Given the description of an element on the screen output the (x, y) to click on. 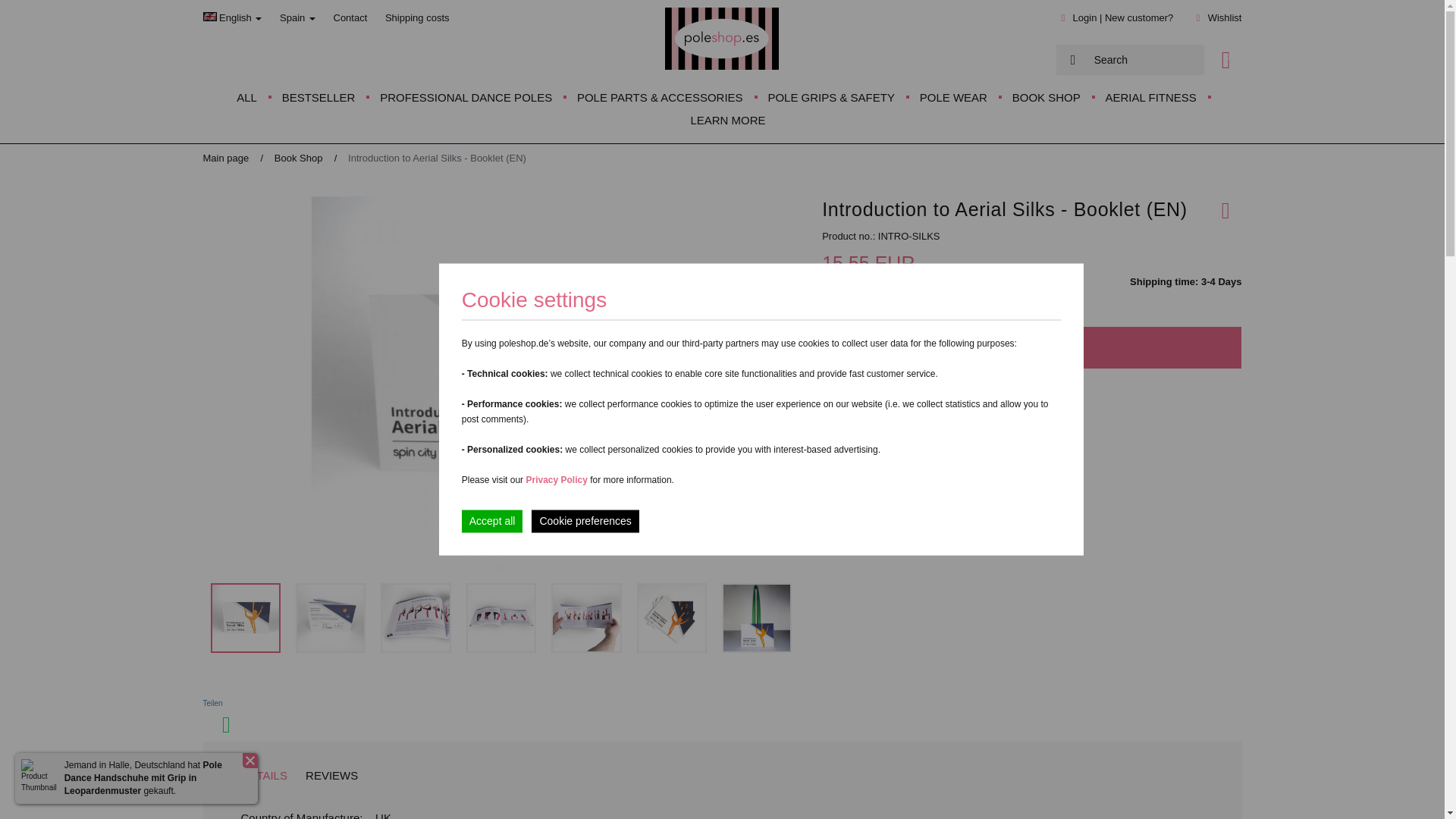
Wishlist (1224, 17)
0 (1224, 59)
Poleshop.de (721, 38)
English (232, 17)
Search (1143, 60)
Pole Dance Handschuhe mit Grip in Leopardenmuster (135, 777)
 Add to cart  (1031, 347)
Spain (297, 17)
Shipping costs (417, 17)
Contact (350, 17)
Information (937, 282)
Information (417, 17)
